Given the description of an element on the screen output the (x, y) to click on. 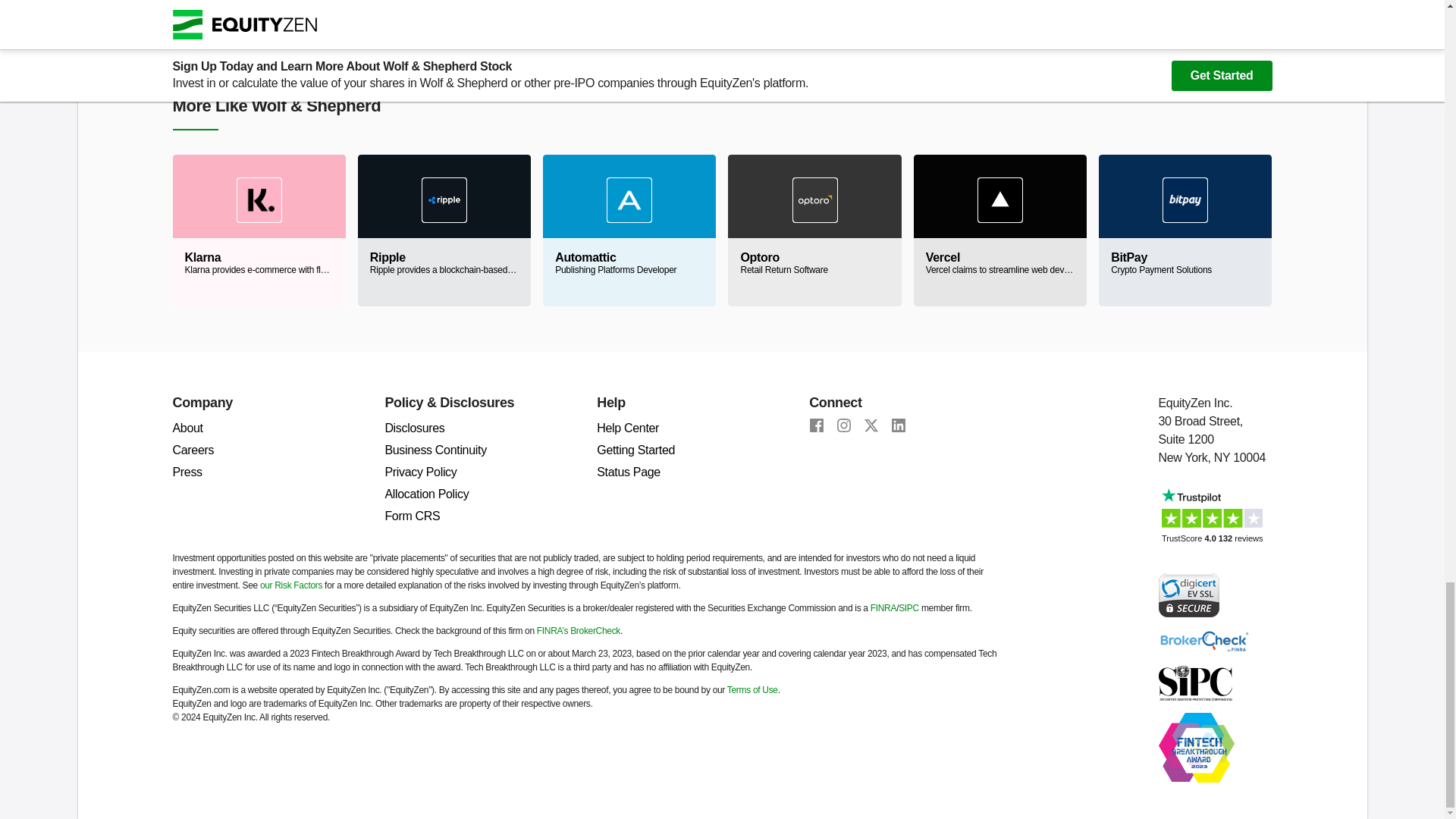
Disclosures (414, 427)
Careers (193, 449)
Business Continuity (435, 449)
Status Page (628, 472)
Press (187, 472)
Privacy Policy (420, 472)
SIPC (908, 607)
Disclosures (414, 427)
SIPC (1194, 681)
Press (187, 472)
Form CRS (411, 515)
Terms of Use (751, 689)
Help Center (814, 230)
